Given the description of an element on the screen output the (x, y) to click on. 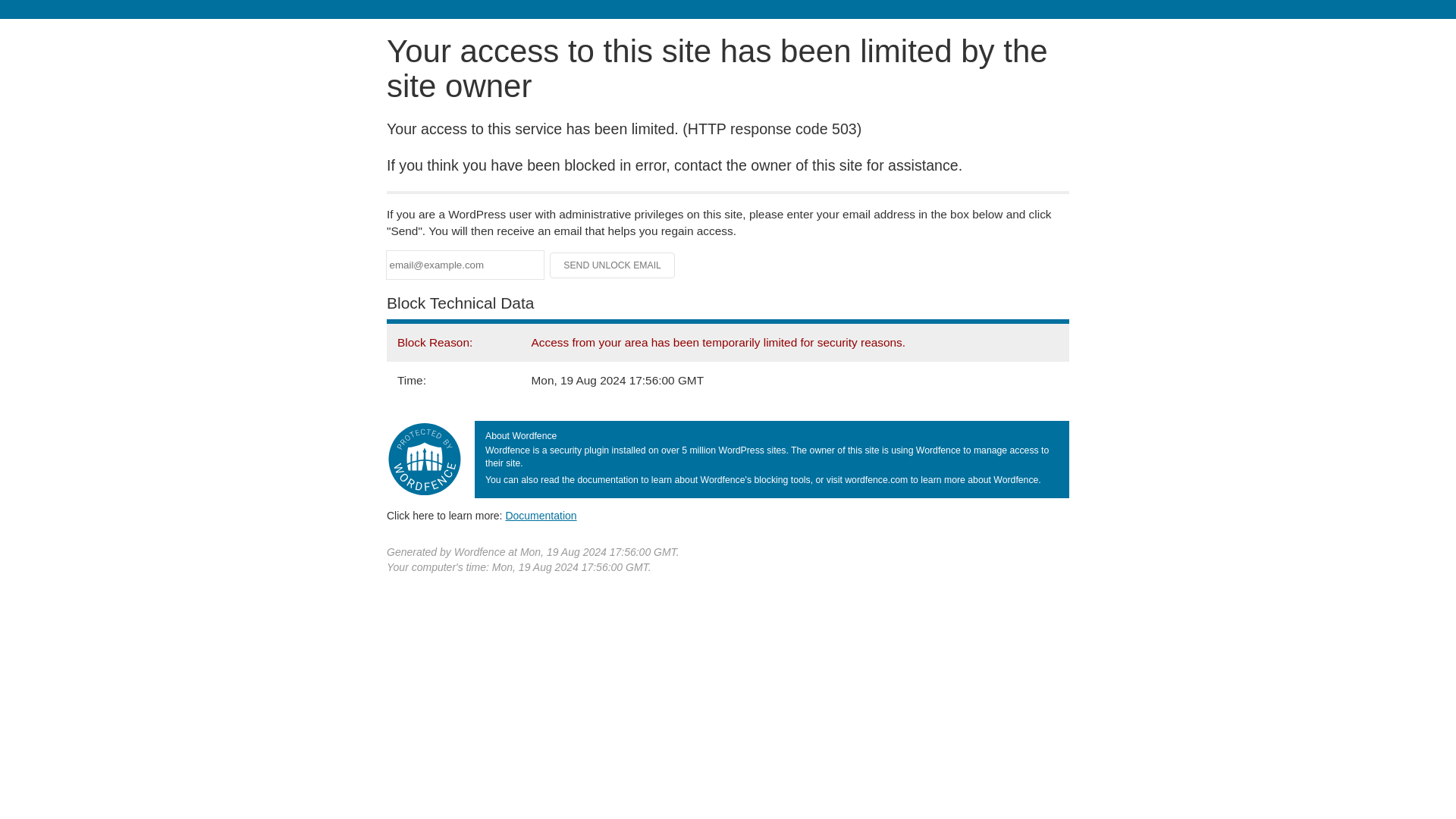
Send Unlock Email (612, 265)
Documentation (540, 515)
Send Unlock Email (612, 265)
